Given the description of an element on the screen output the (x, y) to click on. 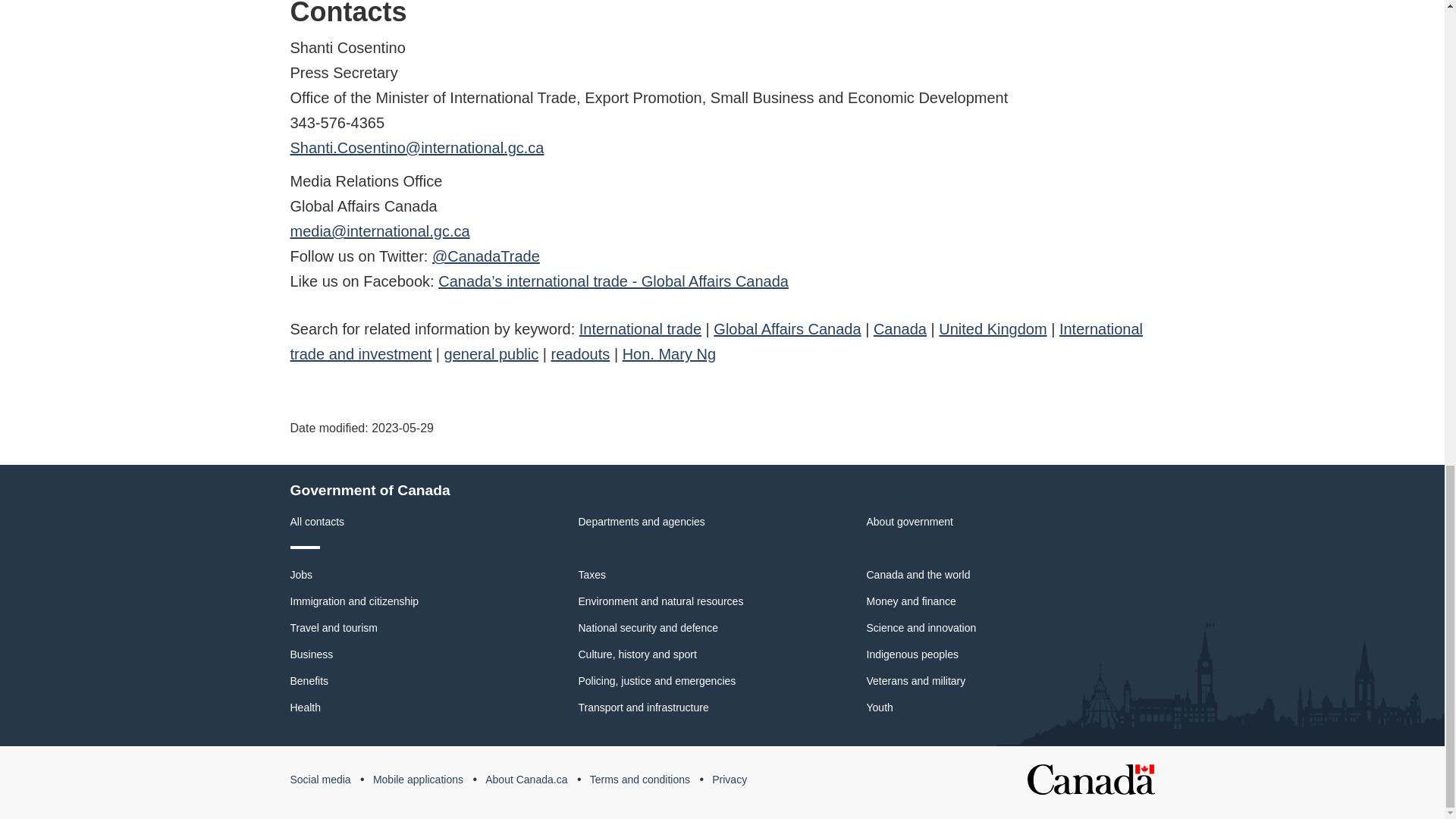
International trade (640, 329)
International trade and investment (715, 341)
Canada (899, 329)
United Kingdom (992, 329)
general public (491, 353)
Global Affairs Canada (786, 329)
readouts (580, 353)
